Given the description of an element on the screen output the (x, y) to click on. 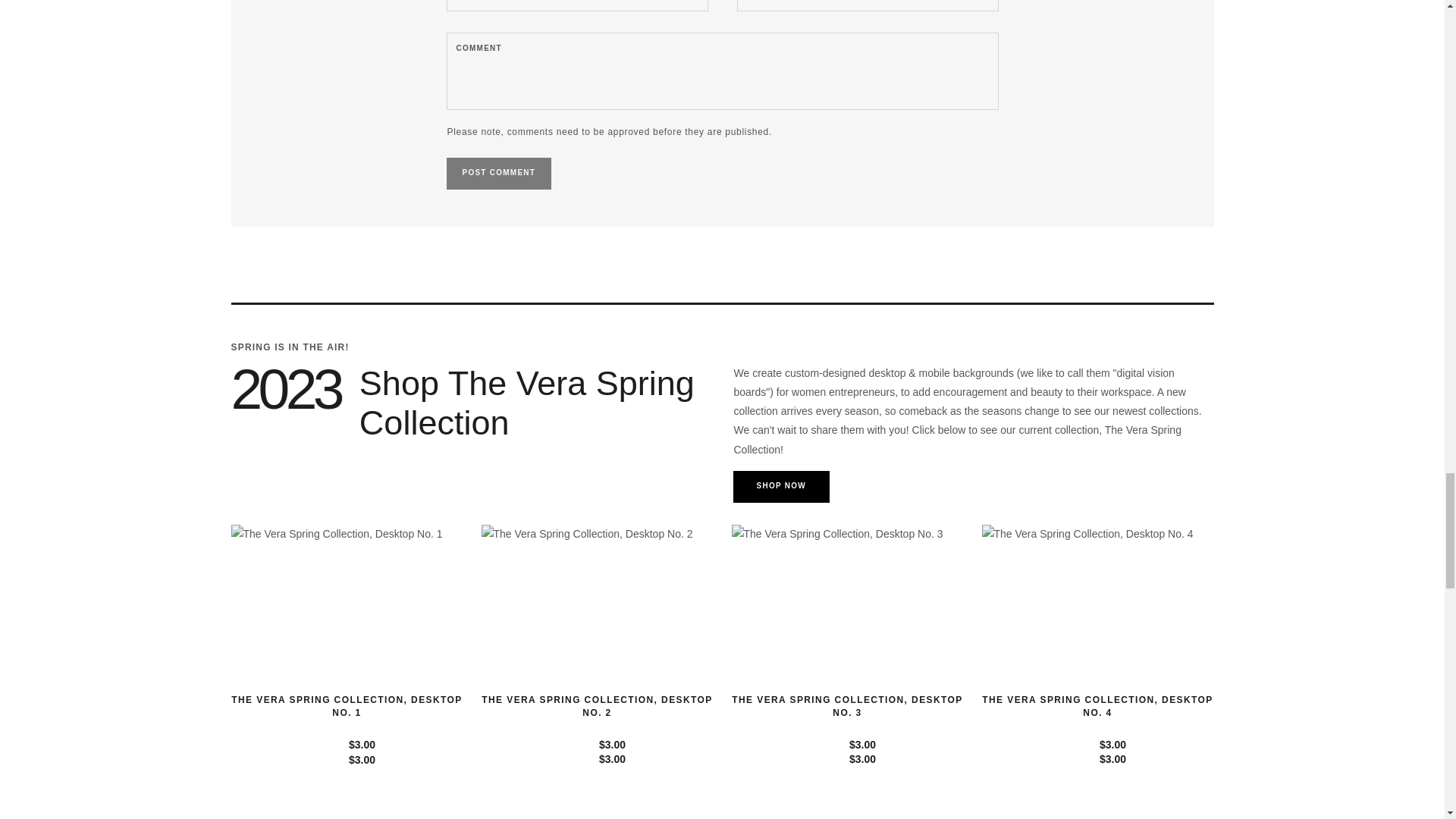
Post comment (498, 173)
The Vera Spring Collection, Desktop No. 3 (846, 706)
The Vera Spring Collection, Desktop No. 1 (346, 706)
The Vera Spring Collection, Desktop No. 4 (1096, 706)
The Vera Spring Collection, Desktop No. 2 (596, 706)
